Given the description of an element on the screen output the (x, y) to click on. 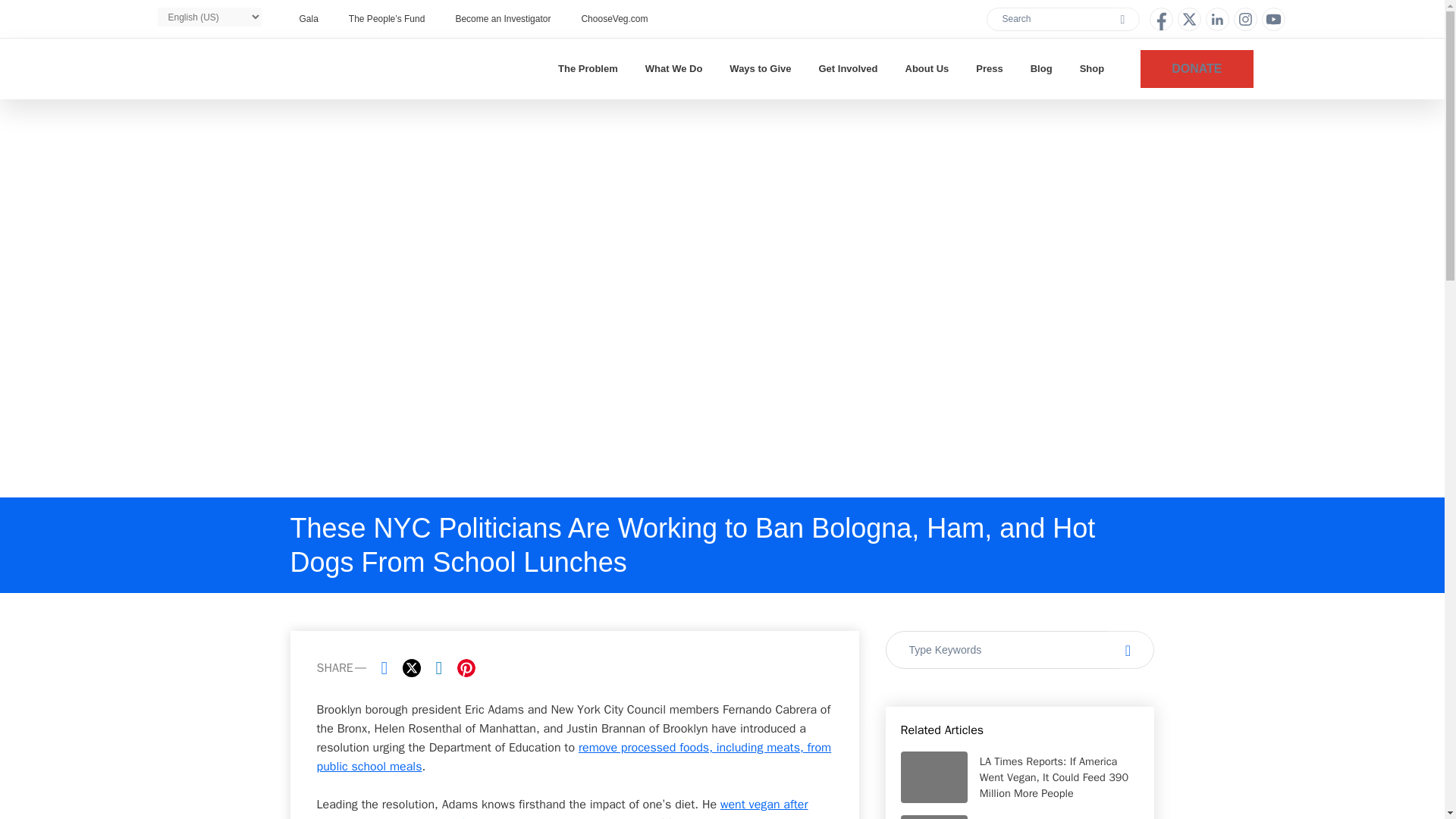
Instagram (1244, 19)
ChooseVeg.com (613, 18)
Become an Investigator (502, 18)
About Us (927, 68)
Share on X (411, 668)
Share on LinkedIn (438, 668)
Get Involved (847, 68)
Youtube (1273, 19)
LinkedIn (1216, 19)
Ways to Give (759, 68)
